Given the description of an element on the screen output the (x, y) to click on. 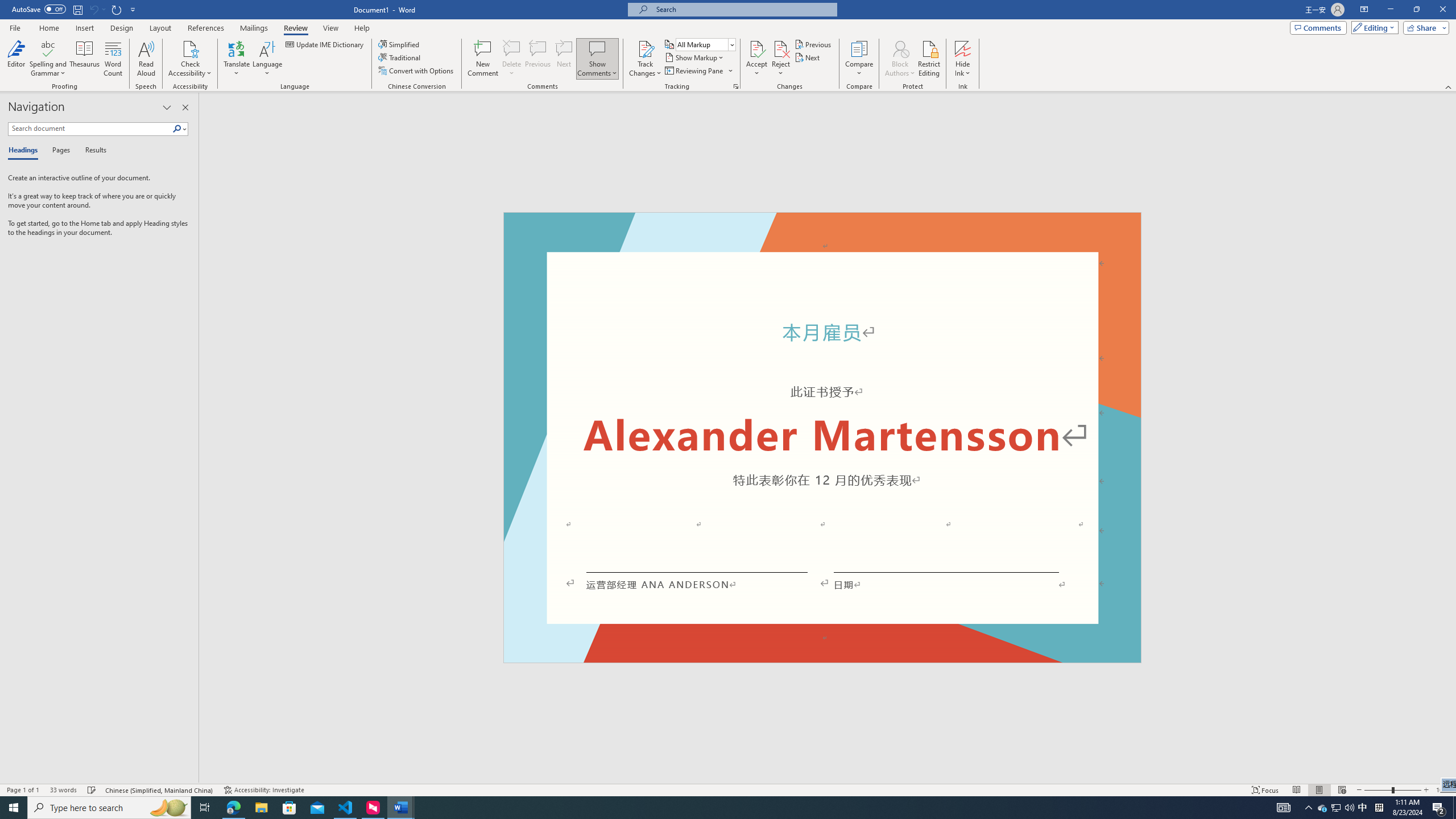
Language Chinese (Simplified, Mainland China) (159, 790)
Reject and Move to Next (780, 48)
Delete (511, 48)
Check Accessibility (189, 48)
Block Authors (900, 58)
Can't Undo (92, 9)
